Given the description of an element on the screen output the (x, y) to click on. 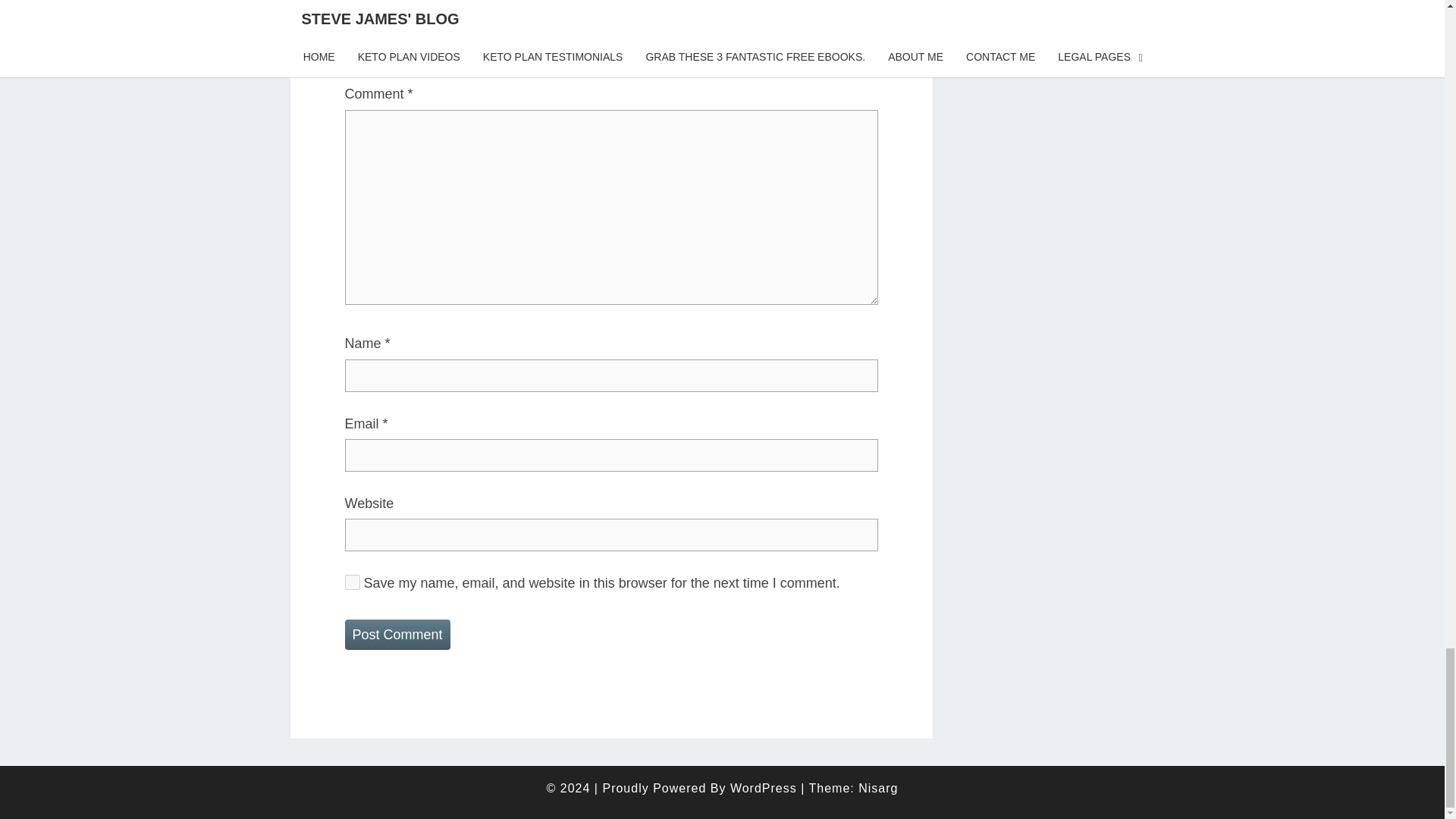
Post Comment (396, 634)
Post Comment (396, 634)
yes (351, 581)
